Given the description of an element on the screen output the (x, y) to click on. 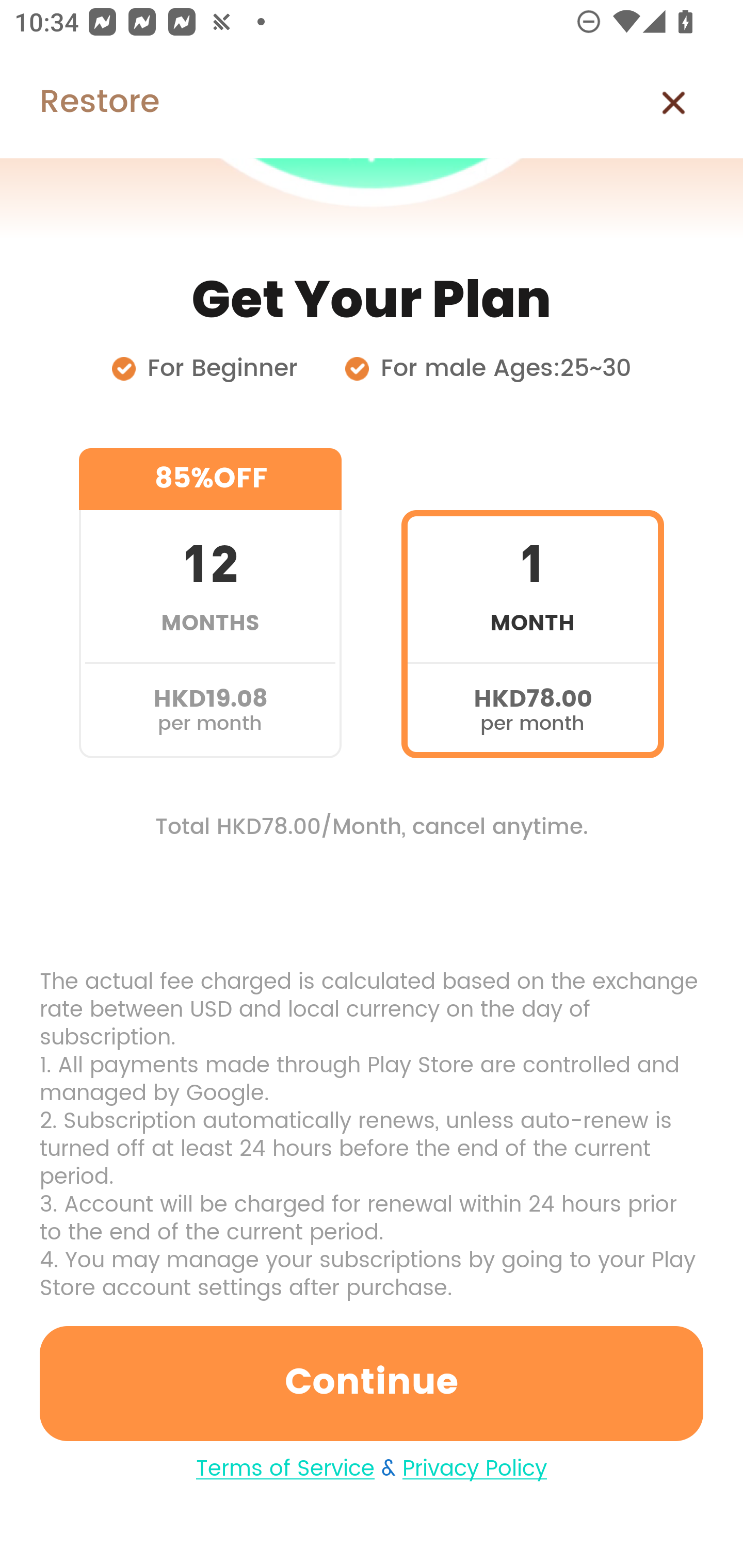
Restore (79, 102)
85%OFF 12 MONTHS per month HKD19.08 (209, 603)
1 MONTH per month HKD78.00 (532, 603)
Continue (371, 1383)
